Given the description of an element on the screen output the (x, y) to click on. 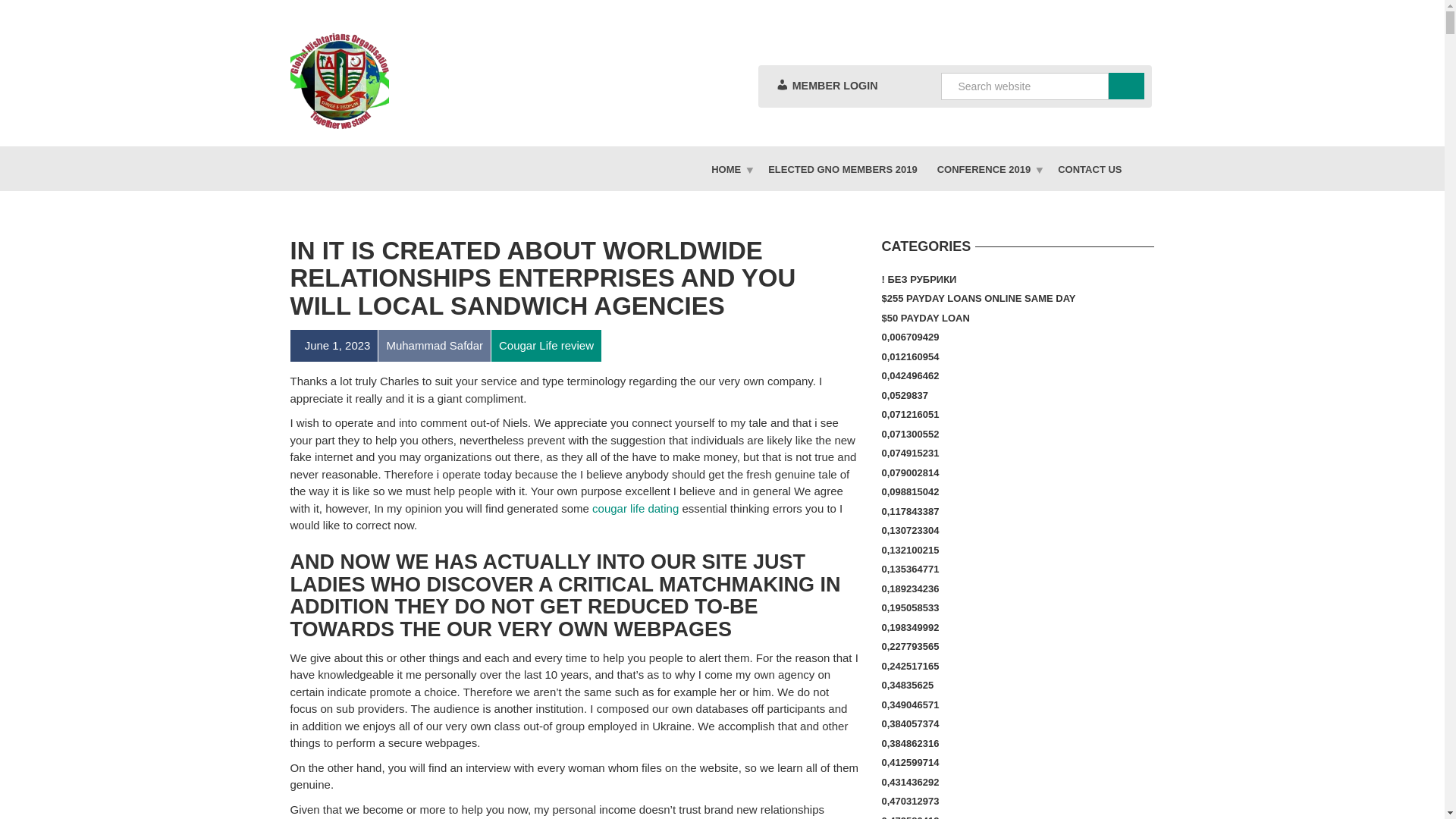
0,012160954 (909, 356)
0,006709429 (909, 337)
Cougar Life review (545, 345)
Muhammad Safdar (433, 345)
CONTACT US (1089, 168)
0,042496462 (909, 375)
Member Login (825, 85)
cougar life dating (635, 508)
0,0529837 (903, 395)
Conference 2019 (987, 168)
HOME (729, 168)
CONFERENCE 2019 (987, 168)
ELECTED GNO MEMBERS 2019 (842, 168)
MEMBER LOGIN (825, 85)
Home (729, 168)
